Given the description of an element on the screen output the (x, y) to click on. 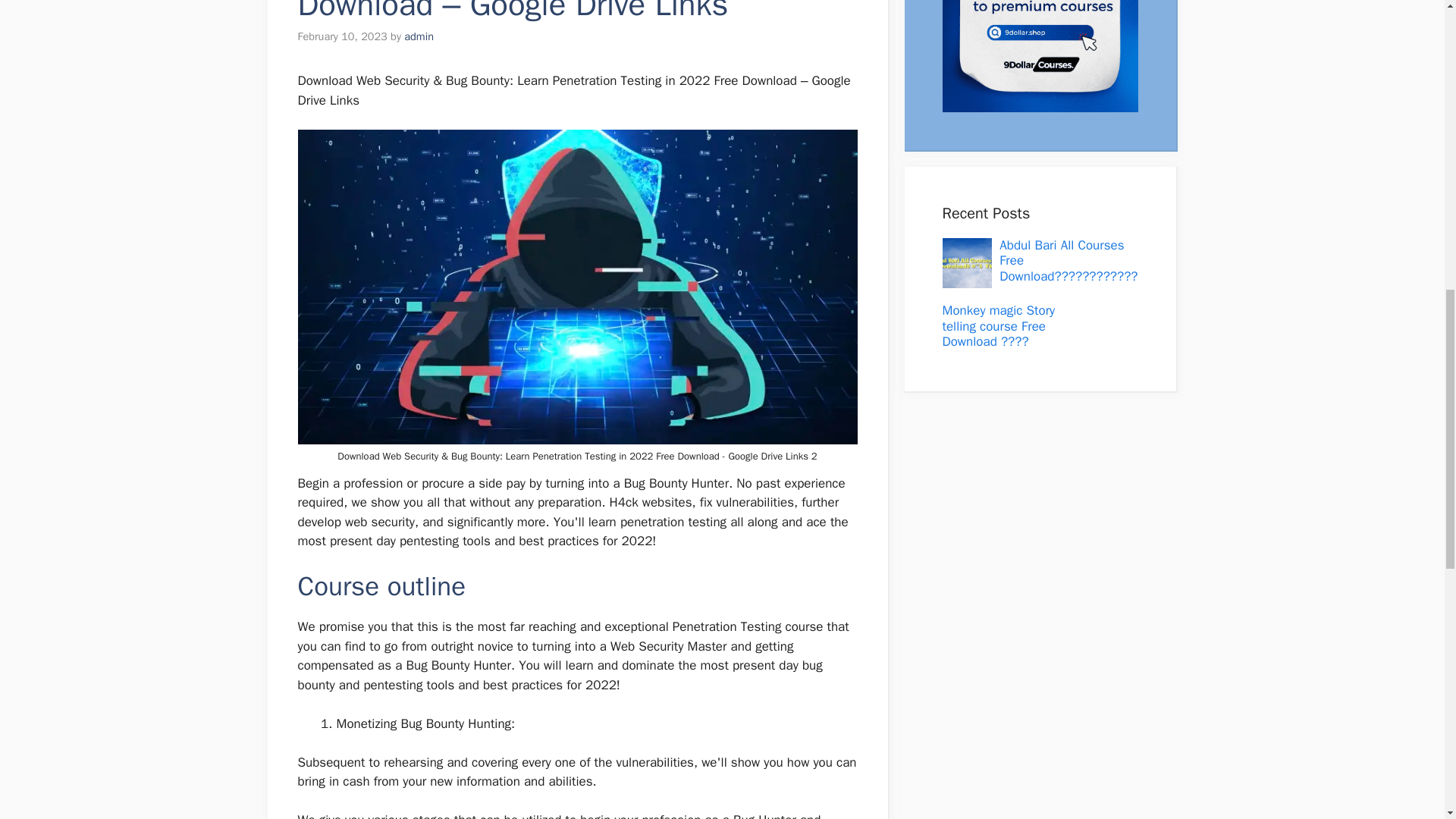
admin (418, 36)
Abdul Bari All Courses Free Download???????????? (1067, 260)
Monkey magic Story telling course Free Download ???? (998, 325)
